Given the description of an element on the screen output the (x, y) to click on. 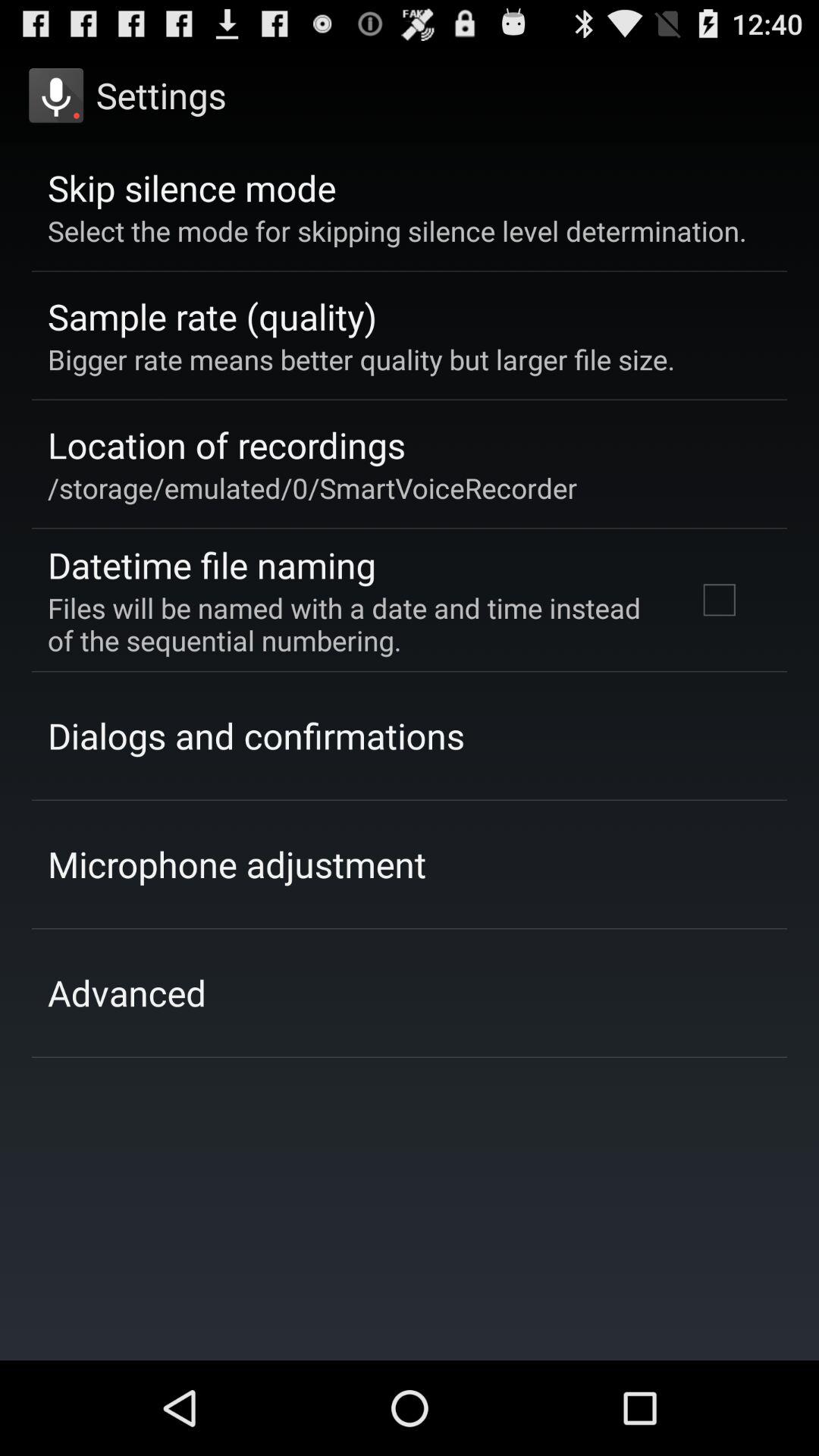
click the storage emulated 0 (312, 487)
